Given the description of an element on the screen output the (x, y) to click on. 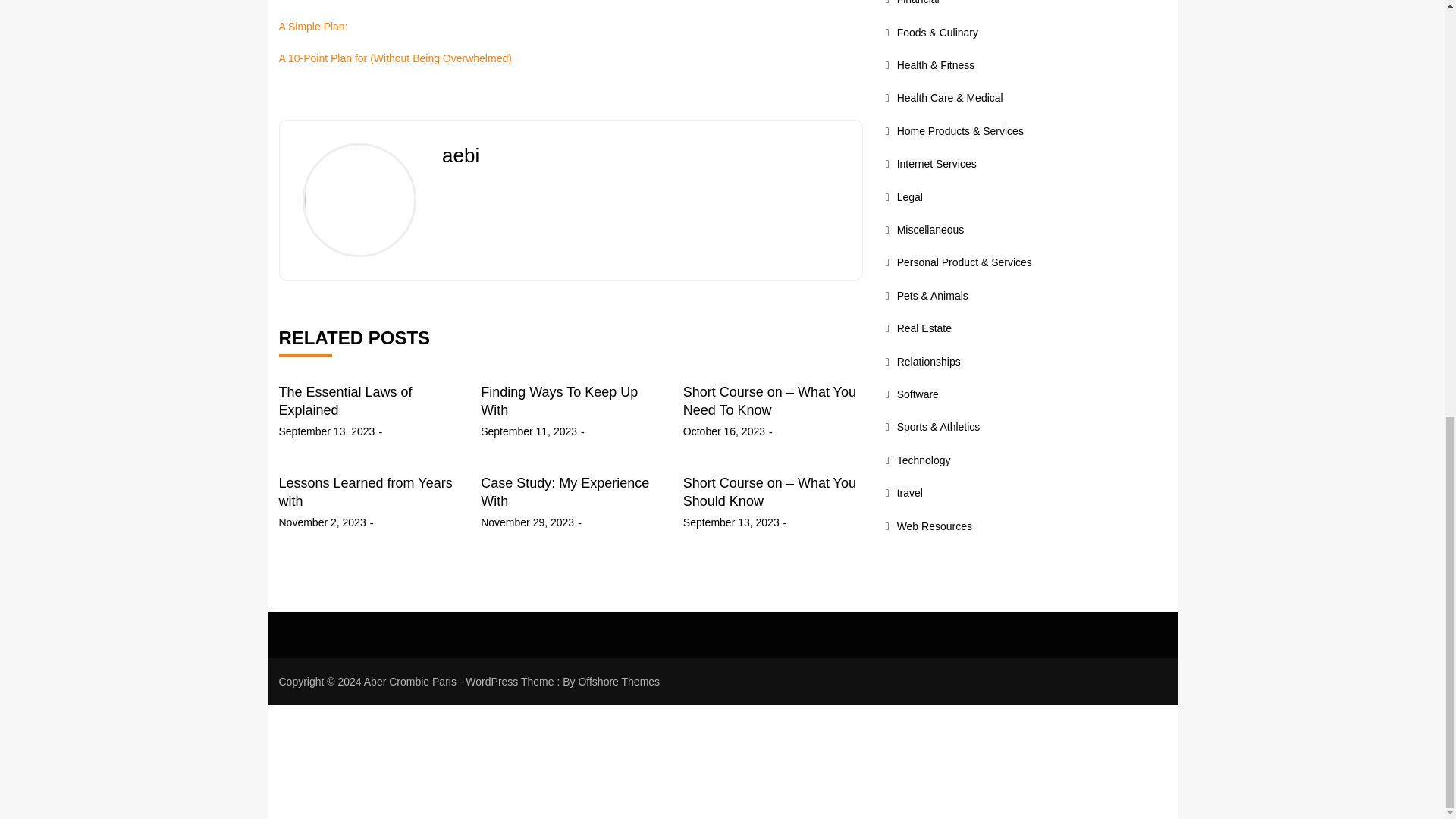
Case Study: My Experience With (564, 491)
Lessons Learned from Years with (365, 491)
September 13, 2023 (327, 431)
A Simple Plan: (313, 26)
November 29, 2023 (526, 522)
September 11, 2023 (528, 431)
September 13, 2023 (730, 522)
Finding Ways To Keep Up With (558, 400)
November 2, 2023 (322, 522)
The Essential Laws of Explained (345, 400)
October 16, 2023 (723, 431)
